Given the description of an element on the screen output the (x, y) to click on. 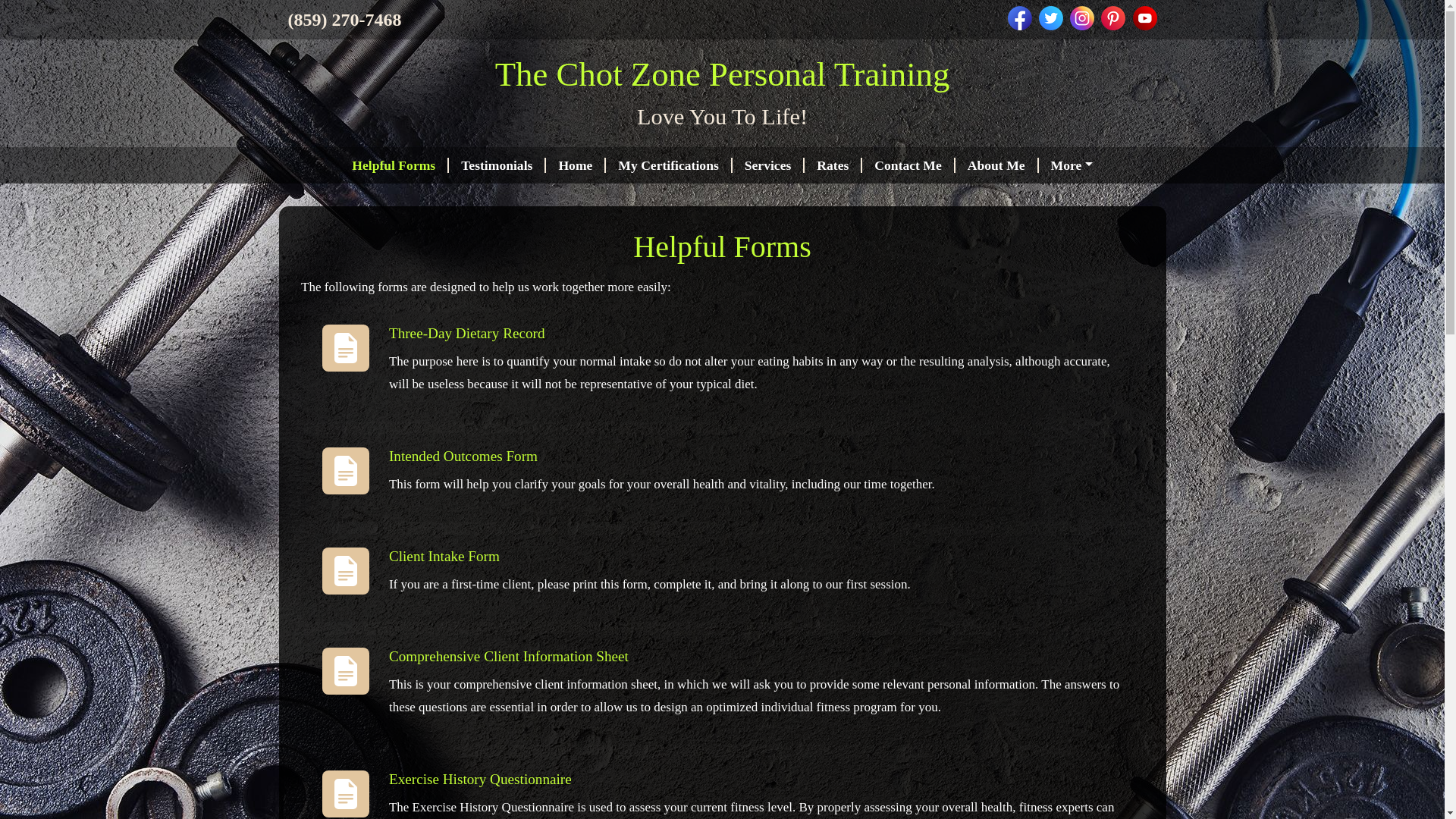
Home (575, 164)
Comprehensive Client Information Sheet (508, 656)
Services (768, 164)
Three-Day Dietary Record (466, 333)
Testimonials (497, 164)
Client Intake Form (443, 555)
Contact Me (908, 164)
My Certifications (668, 164)
Exercise History Questionnaire (480, 779)
About Me (997, 164)
More (1072, 164)
Rates (833, 164)
Helpful Forms (393, 164)
Intended Outcomes Form (462, 455)
